Given the description of an element on the screen output the (x, y) to click on. 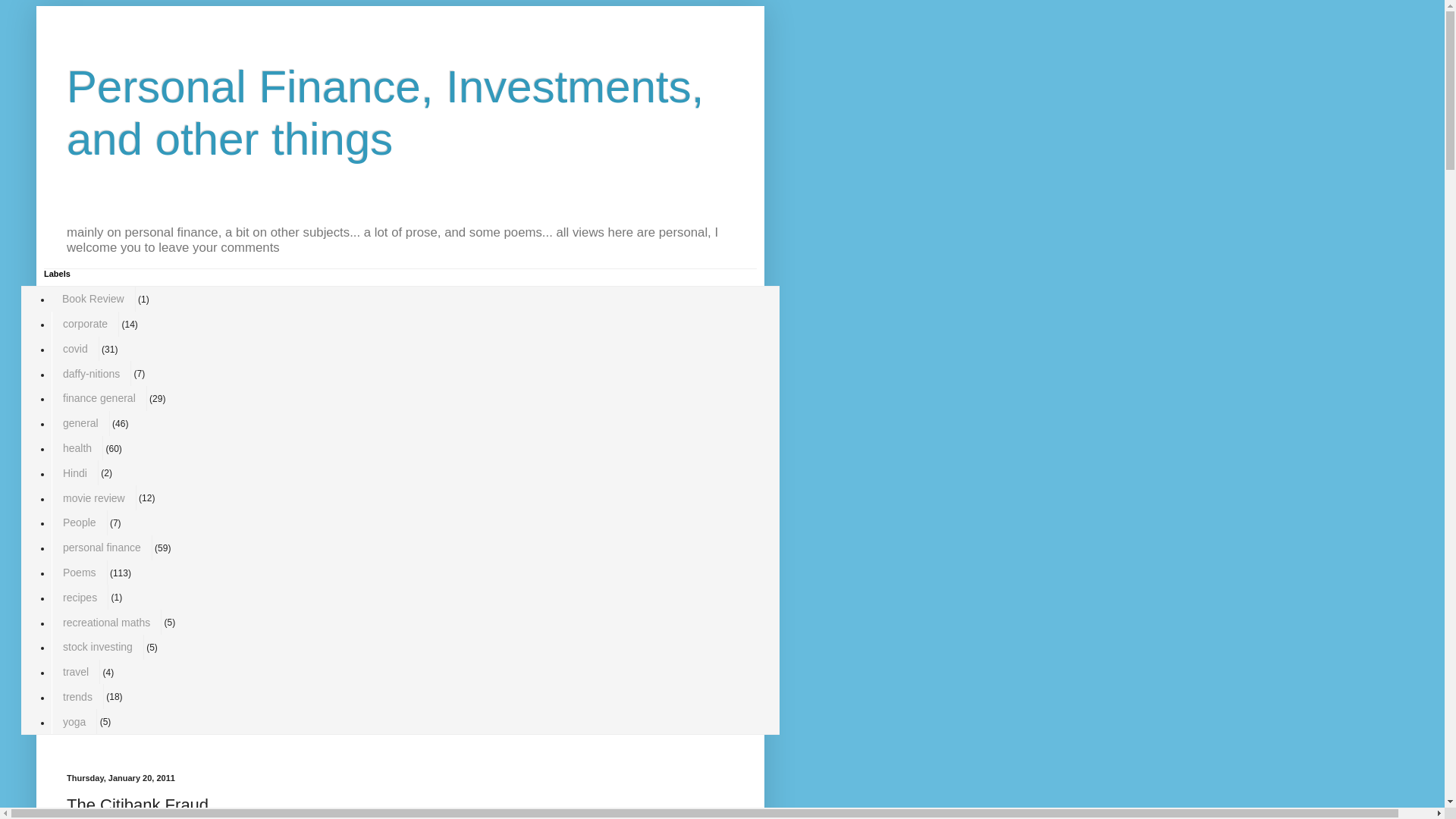
finance general (98, 398)
daffy-nitions (90, 373)
general (80, 423)
recreational maths (105, 621)
yoga (73, 721)
covid (74, 348)
recipes (78, 596)
Hindi (74, 472)
People (78, 522)
personal finance (101, 547)
travel (75, 672)
stock investing (97, 647)
corporate (84, 324)
health (76, 448)
trends (76, 696)
